Given the description of an element on the screen output the (x, y) to click on. 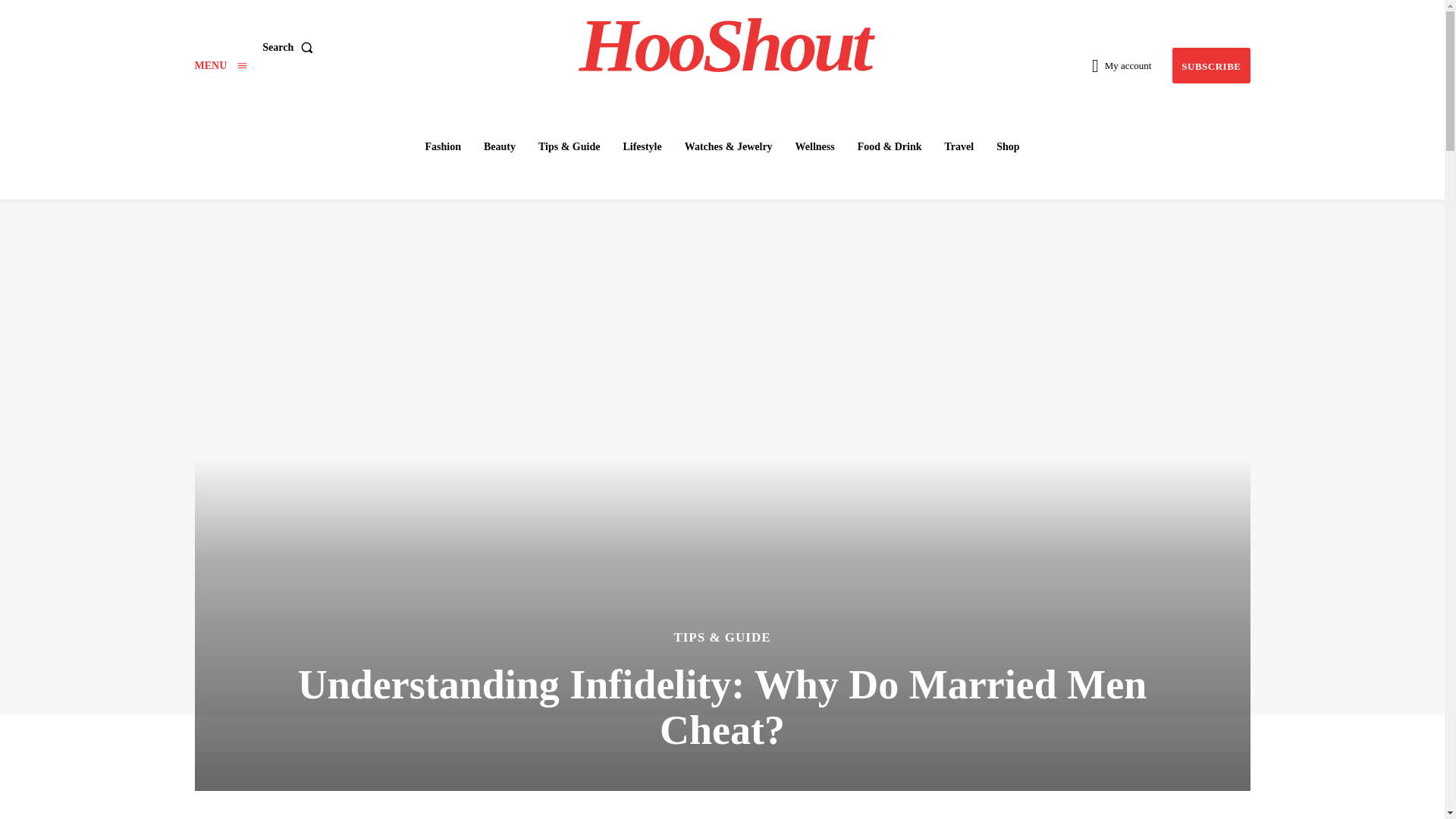
Beauty (499, 146)
Fashion (441, 146)
Wellness (815, 146)
Menu (220, 65)
Search (290, 47)
Subscribe (1210, 65)
SUBSCRIBE (1210, 65)
HooShout (724, 45)
MENU (220, 65)
Lifestyle (641, 146)
